Given the description of an element on the screen output the (x, y) to click on. 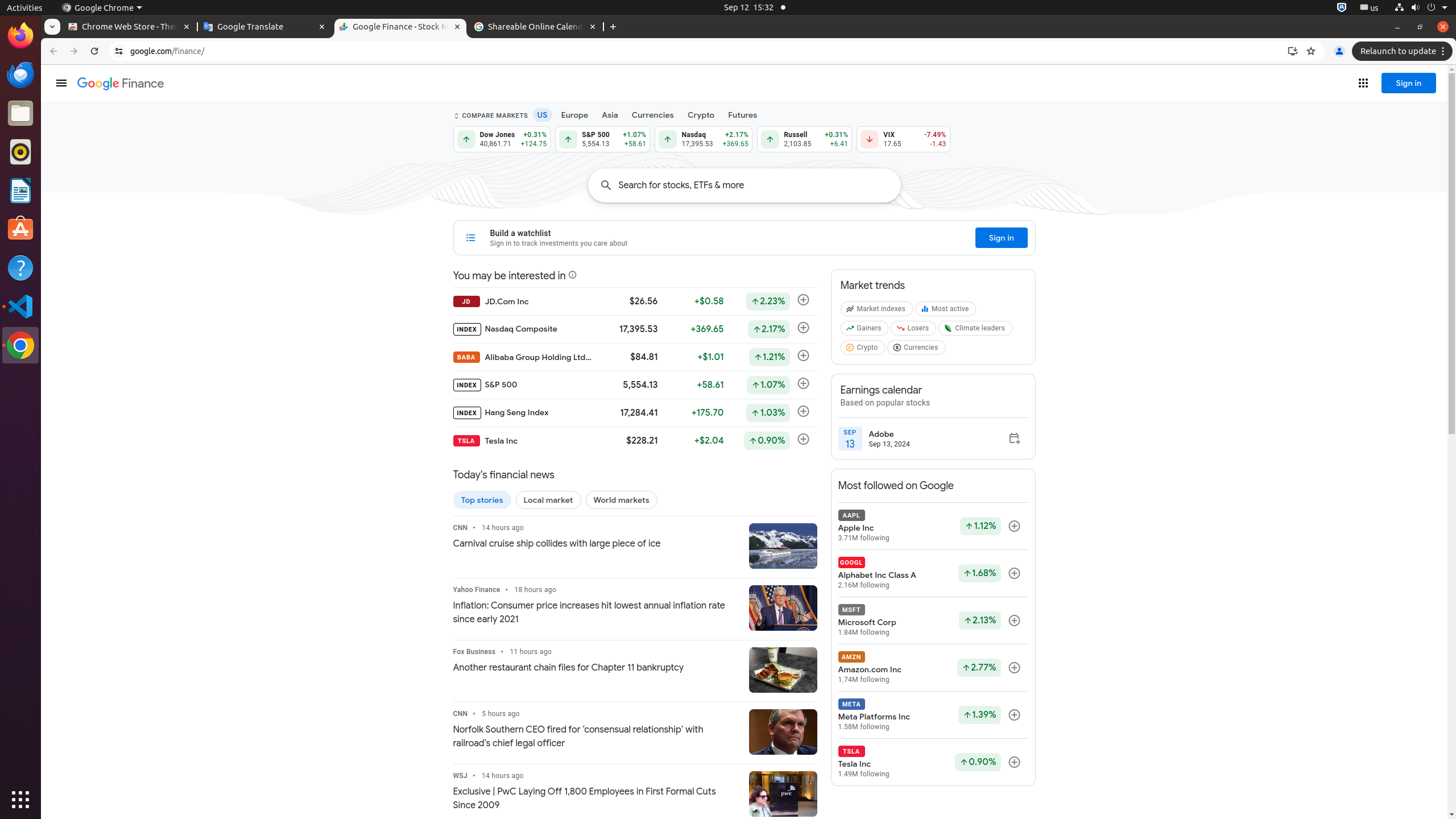
View site information Element type: push-button (118, 51)
Back Element type: push-button (51, 50)
:1.72/StatusNotifierItem Element type: menu (1341, 7)
AMZN Amazon.com Inc 1.74M following Up by 2.77% Follow Element type: link (932, 667)
Google Chrome Element type: push-button (20, 344)
